Given the description of an element on the screen output the (x, y) to click on. 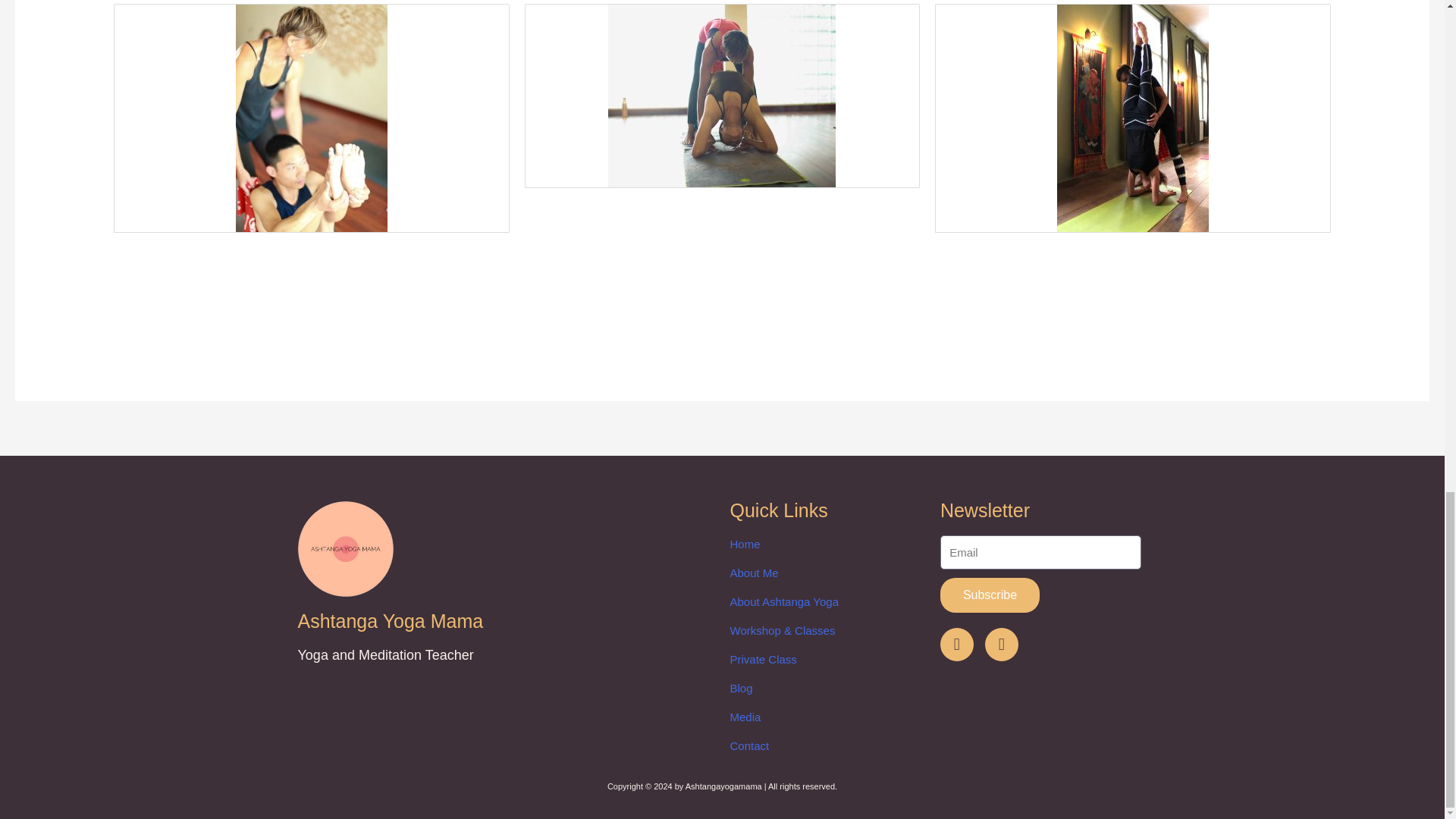
Home (826, 543)
Private Class (826, 659)
Blog (826, 687)
About Ashtanga Yoga (826, 601)
About Me (826, 572)
